Given the description of an element on the screen output the (x, y) to click on. 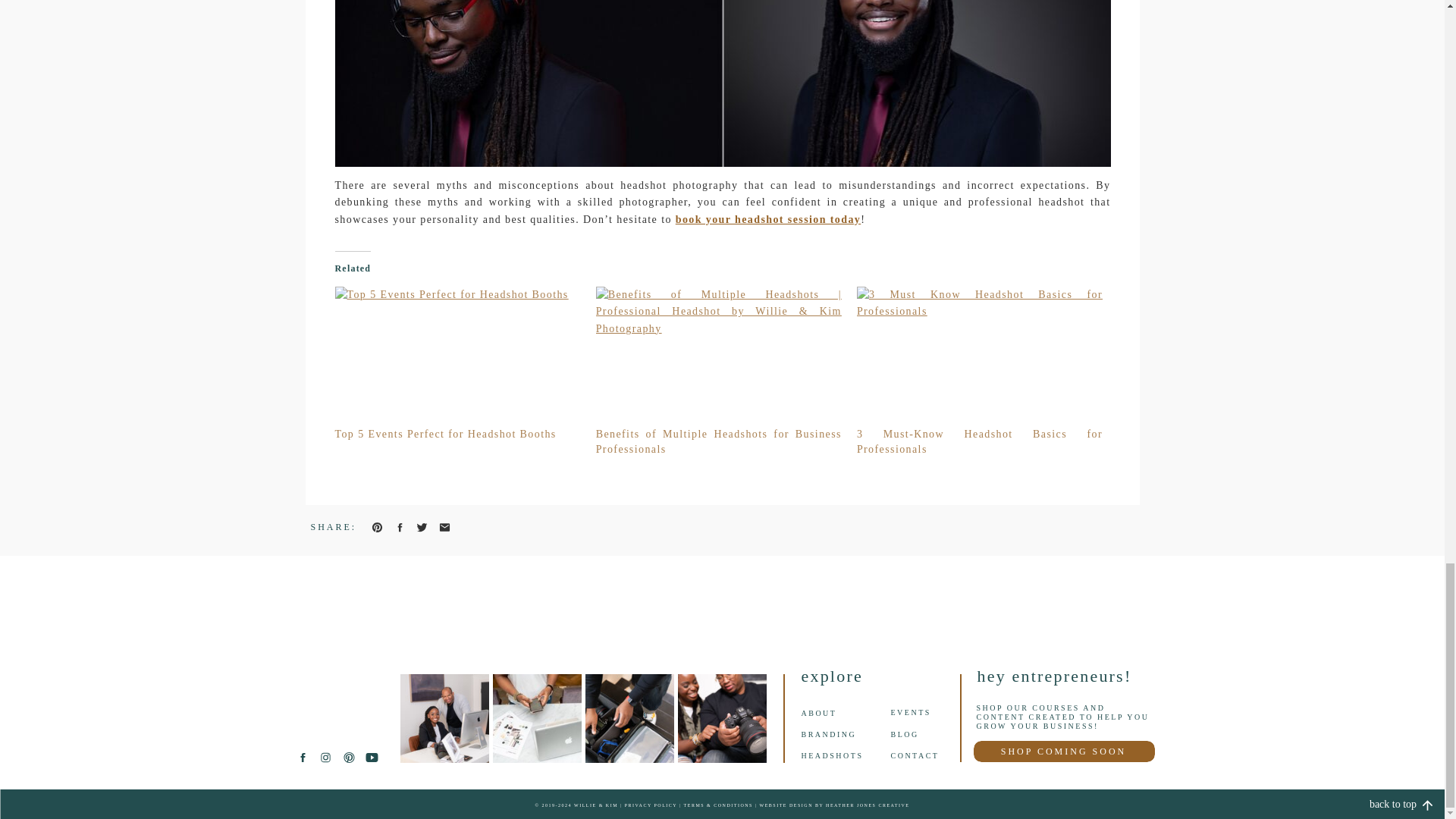
Top 5 Events Perfect for Headshot Booths (457, 356)
Benefits of Multiple Headshots for Business Professionals (718, 441)
Benefits of Multiple Headshots for Business Professionals (718, 441)
3 Must-Know Headshot Basics for Professionals (979, 441)
3 Must-Know Headshot Basics for Professionals (979, 441)
PRIVACY POLICY (650, 805)
3 Must-Know Headshot Basics for Professionals (979, 356)
Top 5 Events Perfect for Headshot Booths (445, 433)
Benefits of Multiple Headshots for Business Professionals (718, 356)
Top 5 Events Perfect for Headshot Booths (445, 433)
